Given the description of an element on the screen output the (x, y) to click on. 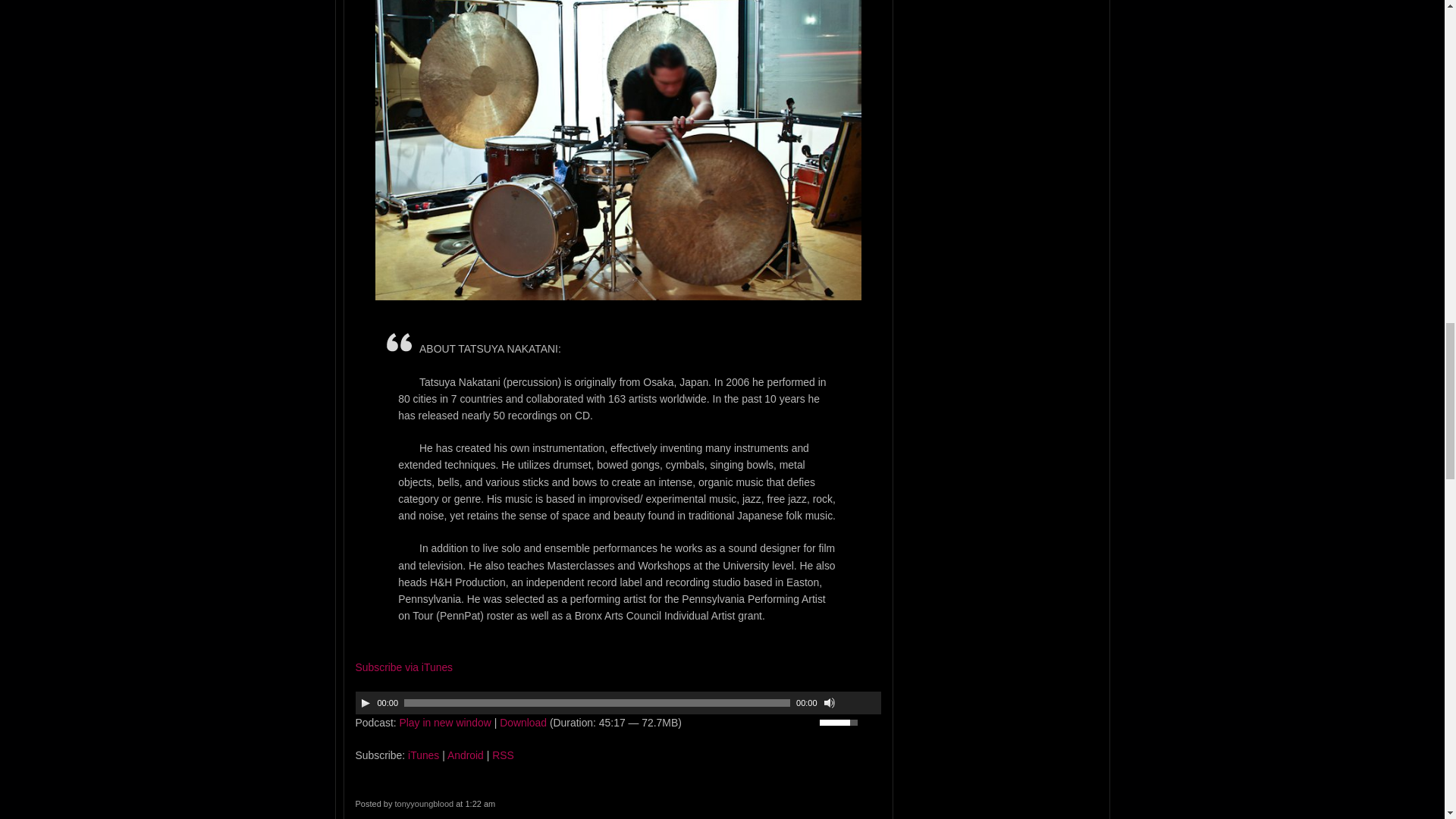
Subscribe via iTunes (403, 666)
Subscribe on iTunes (423, 755)
Mute (829, 702)
Subscribe on Android (464, 755)
Download (523, 722)
Play (365, 702)
Play in new window (444, 722)
Subscribe via RSS (502, 755)
